Given the description of an element on the screen output the (x, y) to click on. 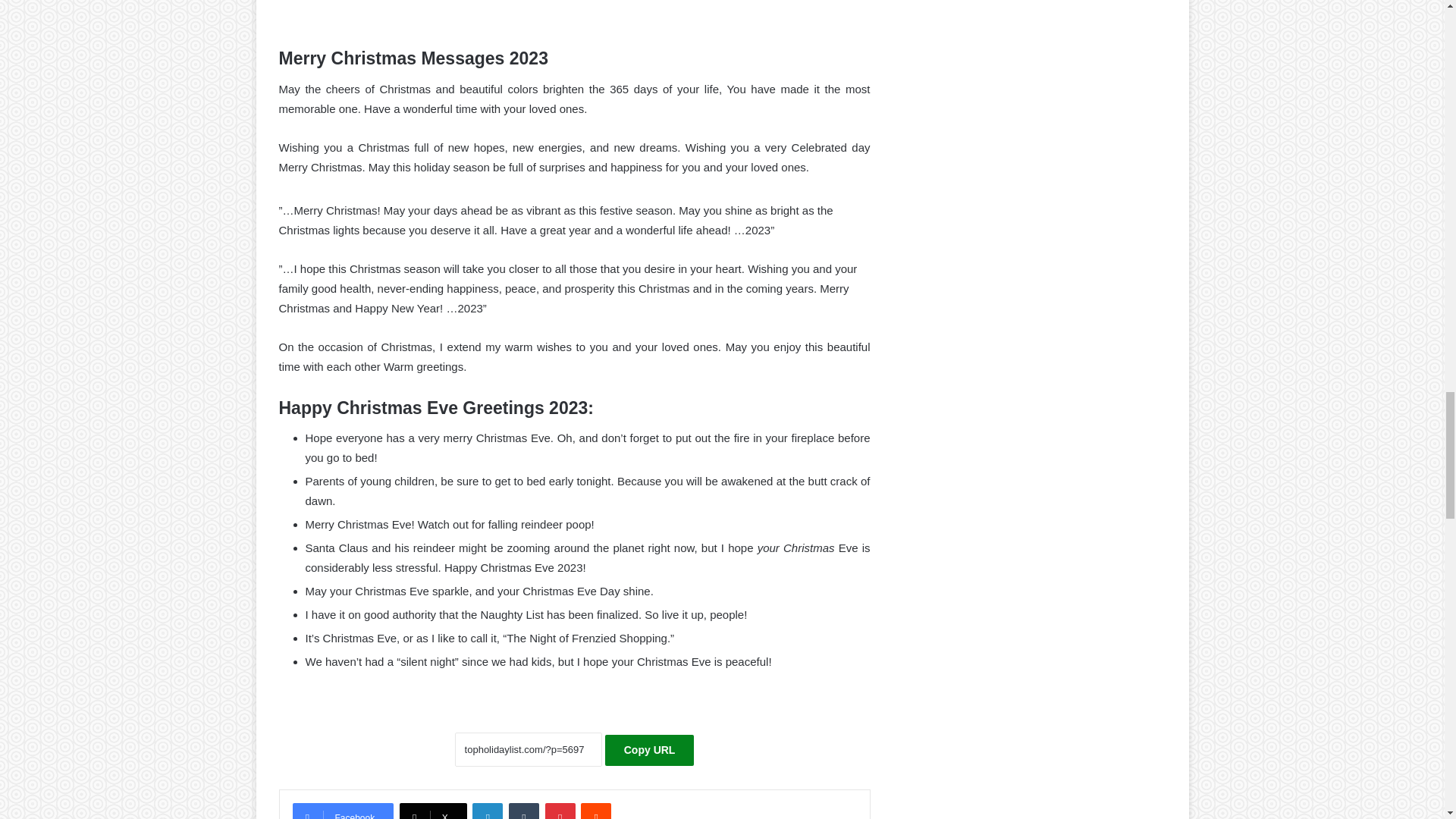
Copy URL (649, 749)
